Given the description of an element on the screen output the (x, y) to click on. 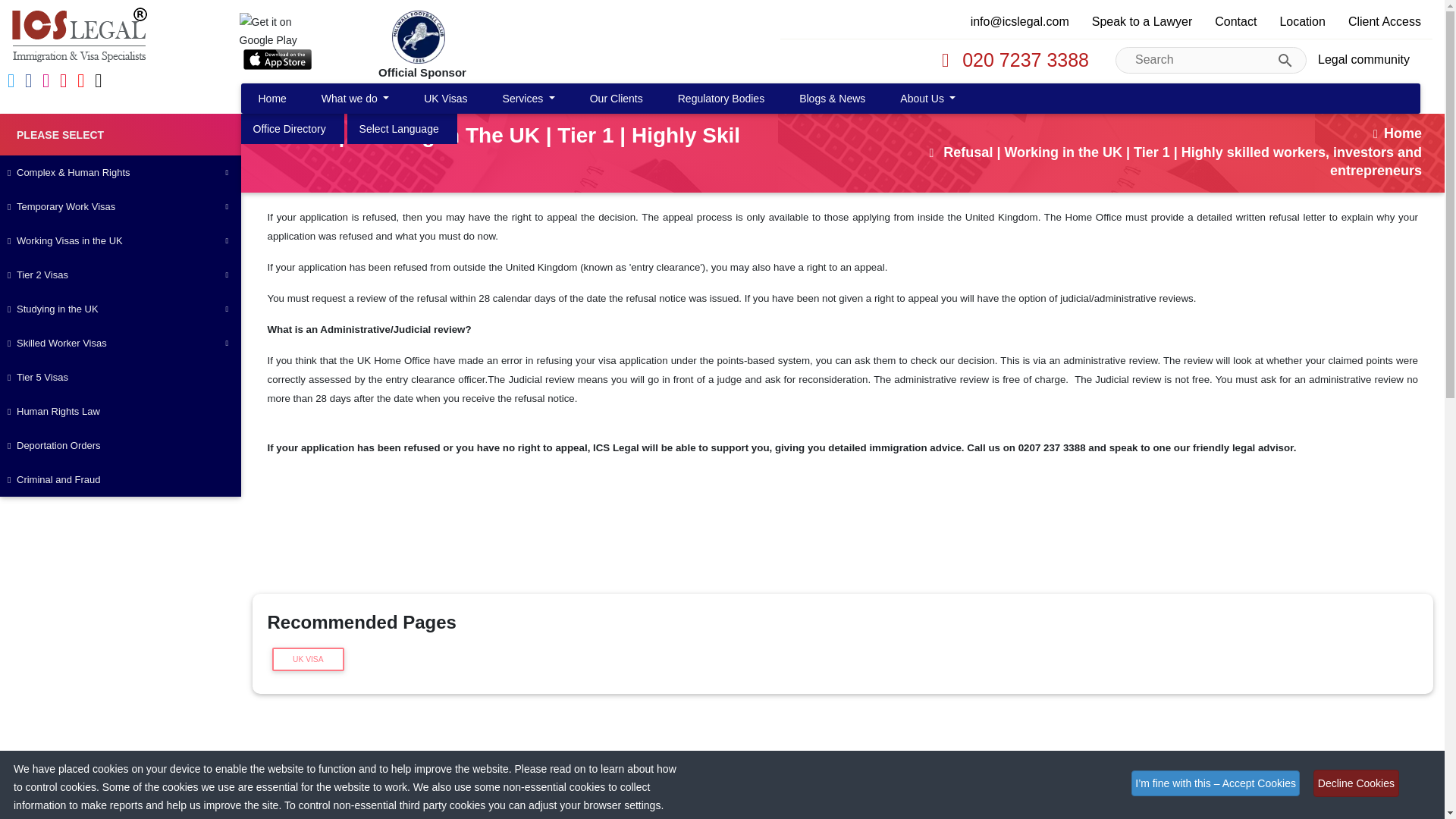
Location (399, 128)
Home (271, 98)
Client Access (1384, 21)
Advertisement (721, 756)
Official Sponsor (440, 45)
Legal community (1363, 59)
020 7237 3388 (1010, 59)
Speak to a Lawyer (1142, 21)
Location (1302, 21)
Contact (1236, 21)
What we do (354, 98)
Location (289, 128)
